Given the description of an element on the screen output the (x, y) to click on. 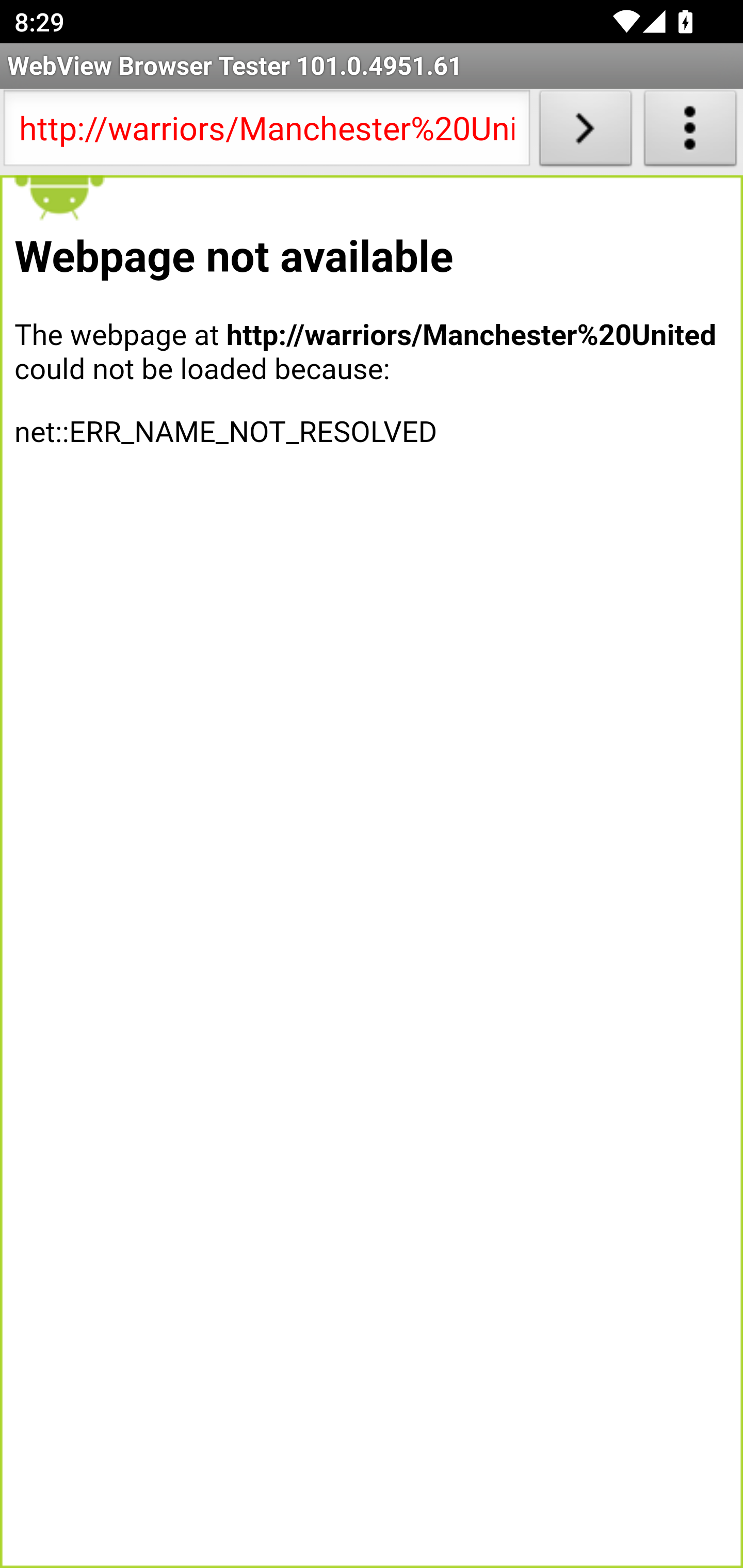
http://warriors/Manchester%20United (266, 132)
Load URL (585, 132)
About WebView (690, 132)
